Given the description of an element on the screen output the (x, y) to click on. 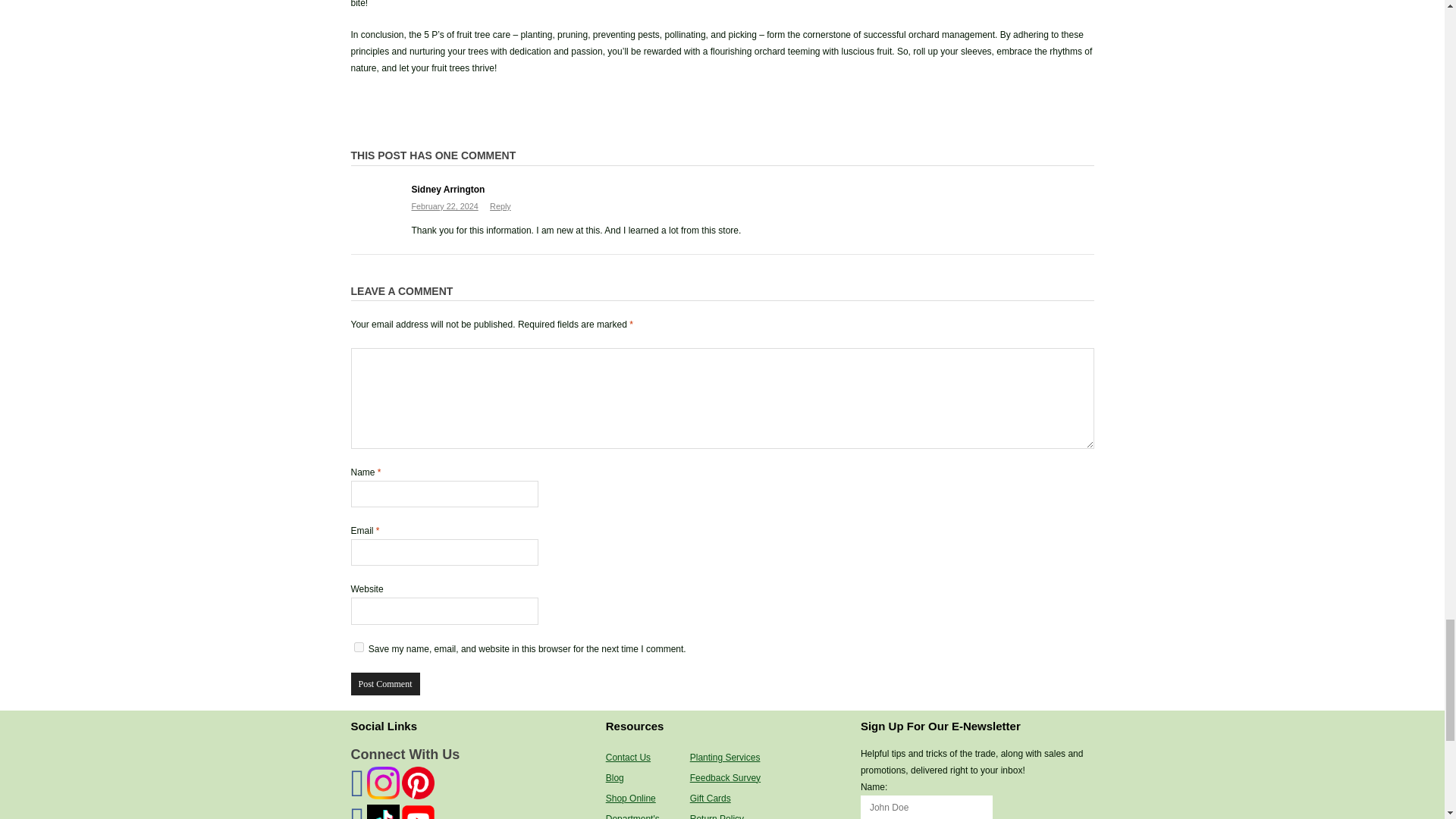
Post Comment (384, 683)
yes (357, 646)
